Given the description of an element on the screen output the (x, y) to click on. 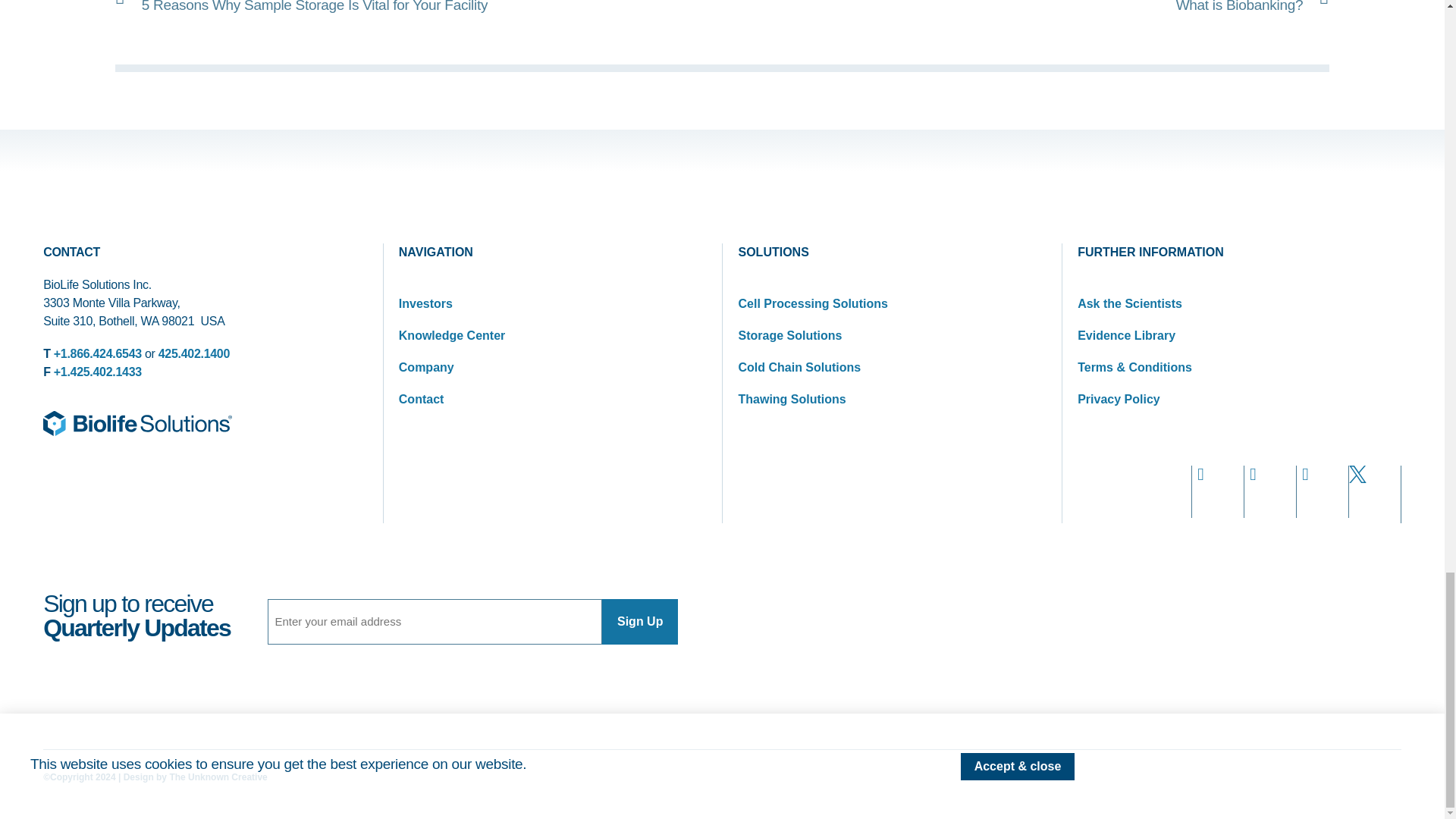
Sign Up (640, 621)
